Given the description of an element on the screen output the (x, y) to click on. 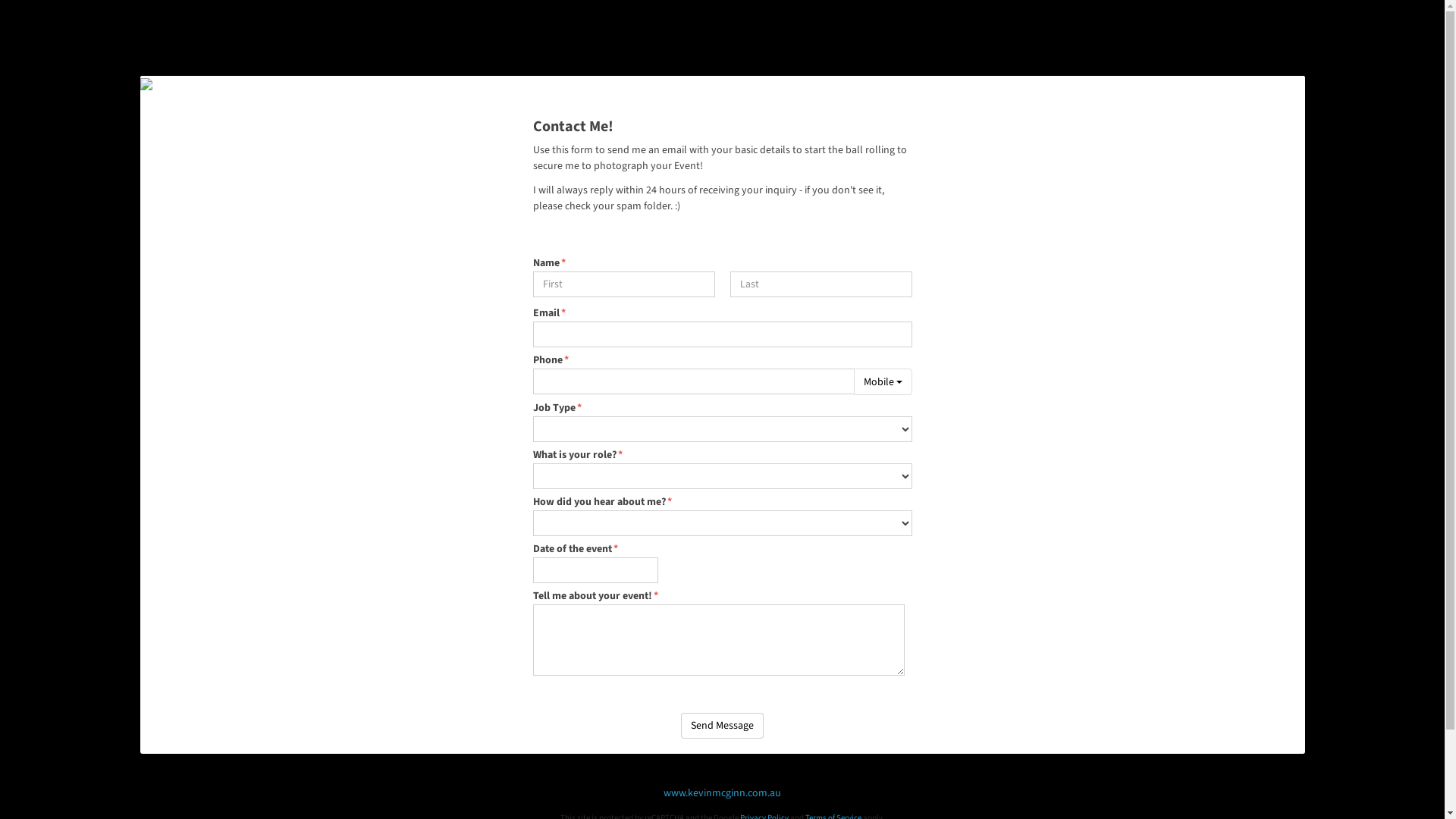
Mobile Element type: text (882, 381)
Send Message Element type: text (721, 725)
www.kevinmcginn.com.au Element type: text (722, 792)
